Given the description of an element on the screen output the (x, y) to click on. 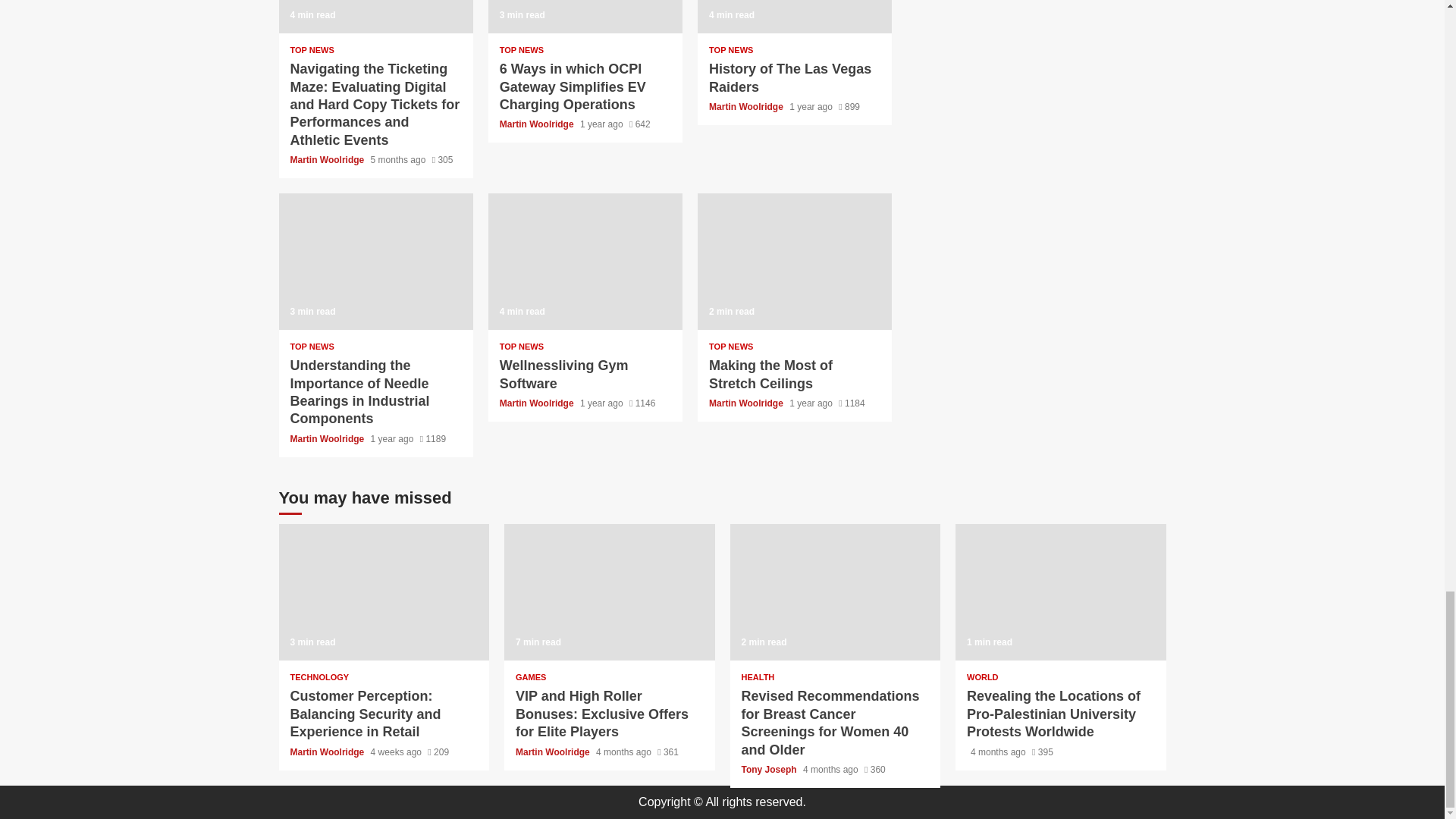
History of The Las Vegas Raiders (789, 77)
TOP NEWS (730, 49)
History of The Las Vegas Raiders (794, 16)
899 (849, 106)
TOP NEWS (521, 49)
Martin Woolridge (537, 123)
Martin Woolridge (327, 159)
